Given the description of an element on the screen output the (x, y) to click on. 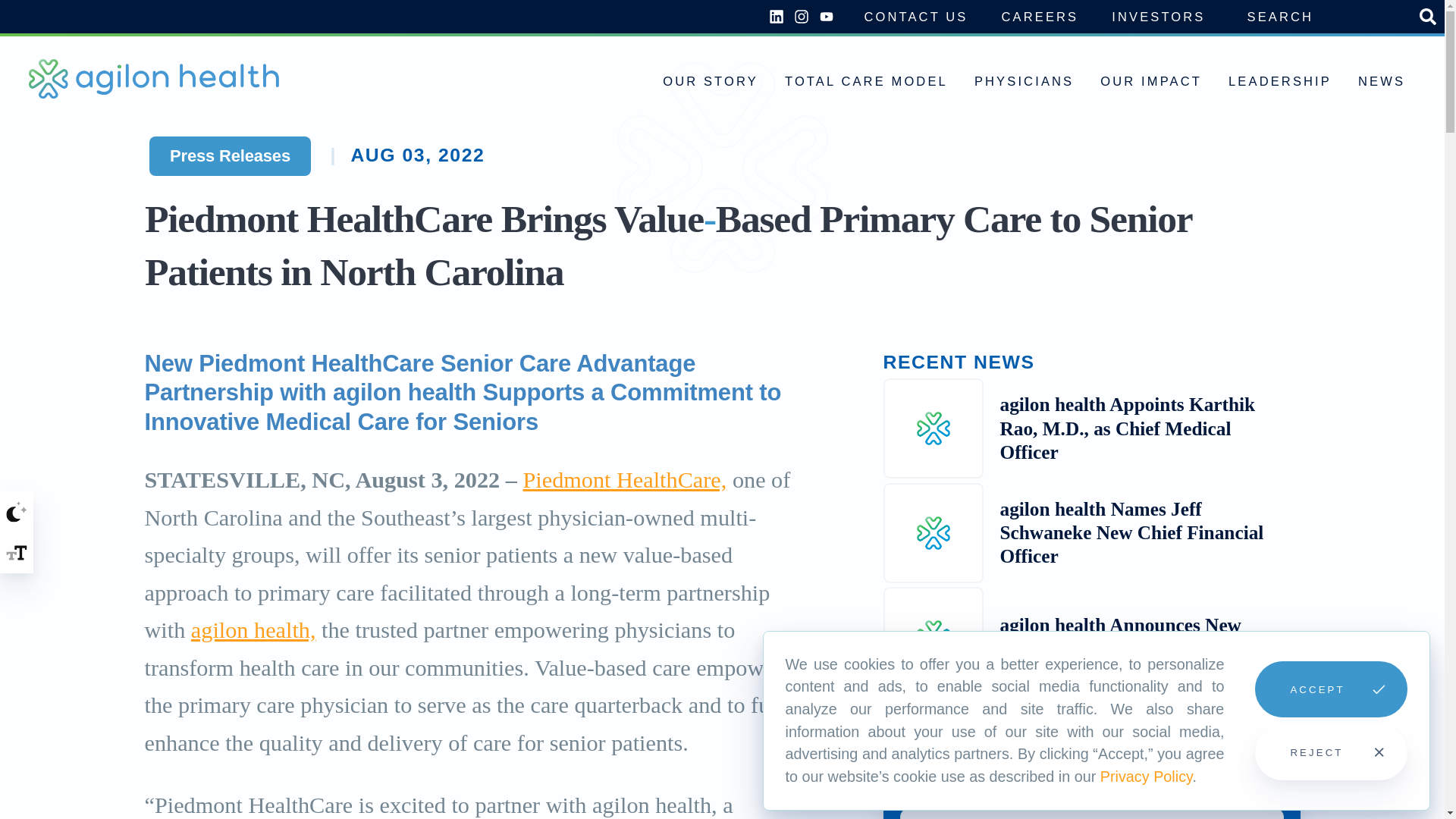
TOTAL CARE MODEL (865, 77)
LEADERSHIP (1280, 77)
INVESTORS (1157, 16)
OUR STORY (710, 77)
Piedmont HealthCare, (624, 479)
OUR IMPACT (1151, 77)
CONTACT US (915, 16)
PHYSICIANS (1024, 77)
agilon health, (252, 629)
CAREERS (1039, 16)
